Given the description of an element on the screen output the (x, y) to click on. 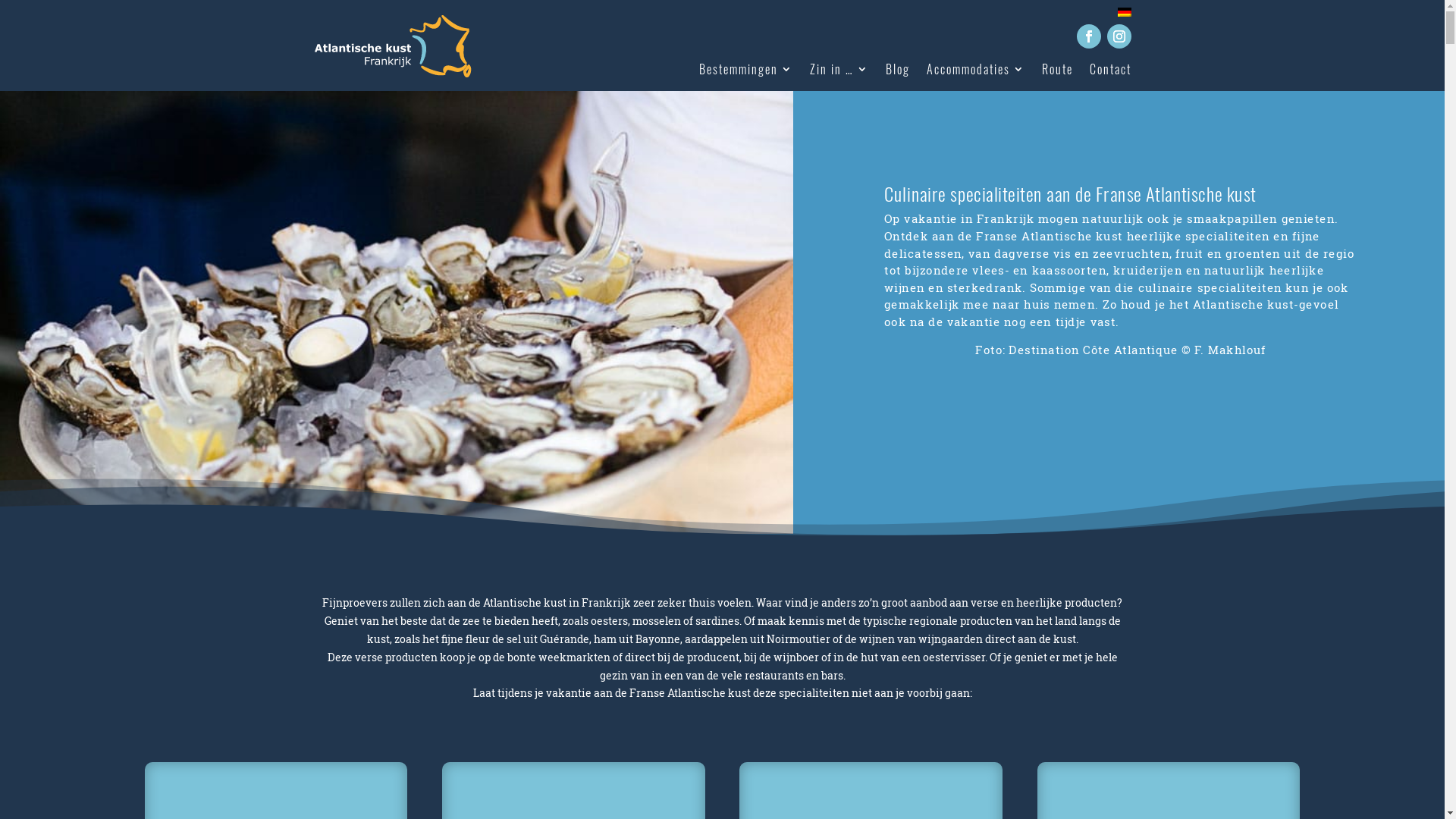
Volg op Instagram Element type: hover (1119, 36)
Logo_Atlantikkuste-NL Element type: hover (392, 46)
de Element type: hover (1124, 11)
Accommodaties Element type: text (975, 71)
Blog Element type: text (897, 71)
Volg op Facebook Element type: hover (1088, 36)
Contact Element type: text (1110, 71)
Route Element type: text (1057, 71)
Bestemmingen Element type: text (746, 71)
